Given the description of an element on the screen output the (x, y) to click on. 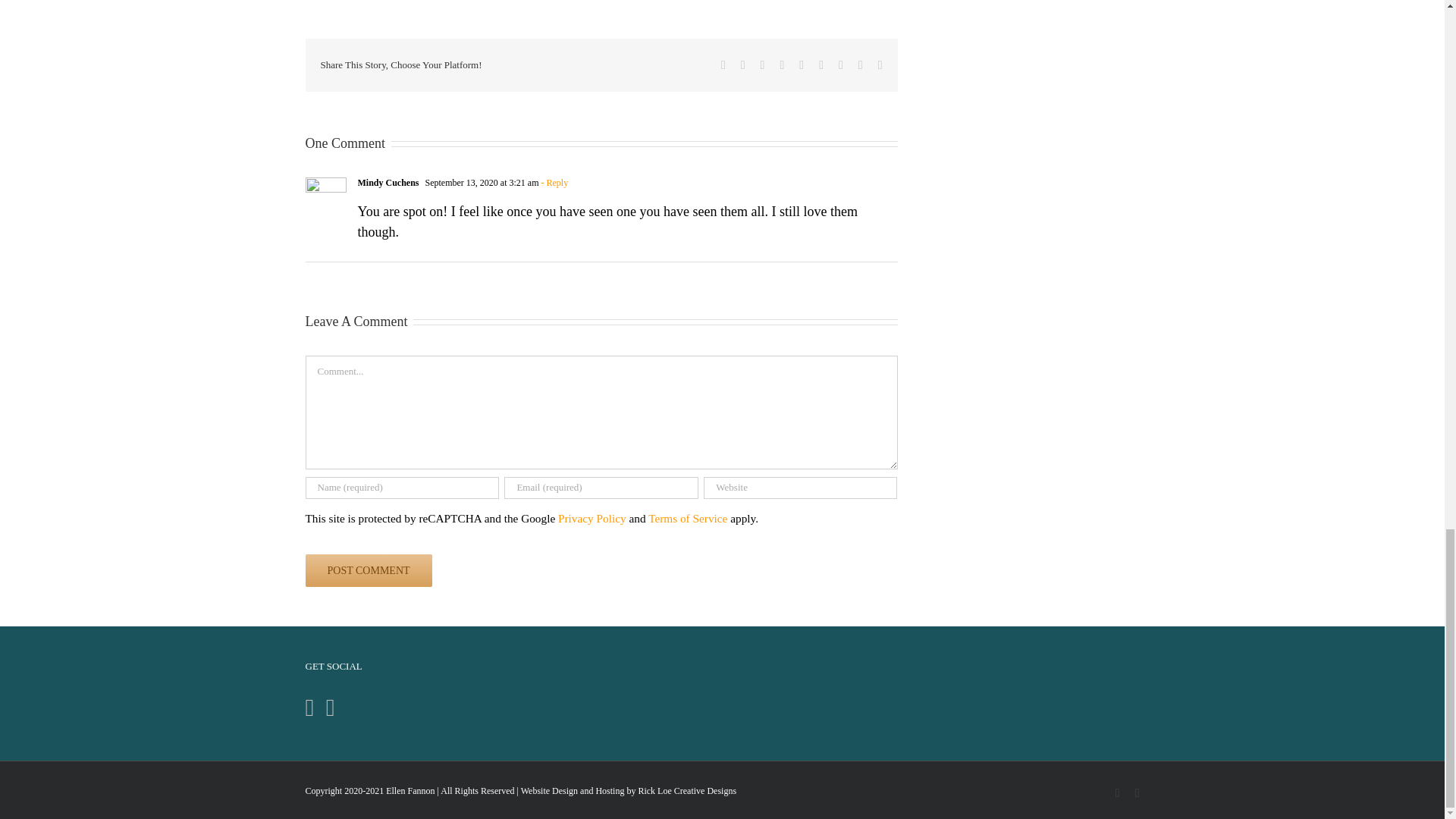
Post Comment (367, 570)
